Given the description of an element on the screen output the (x, y) to click on. 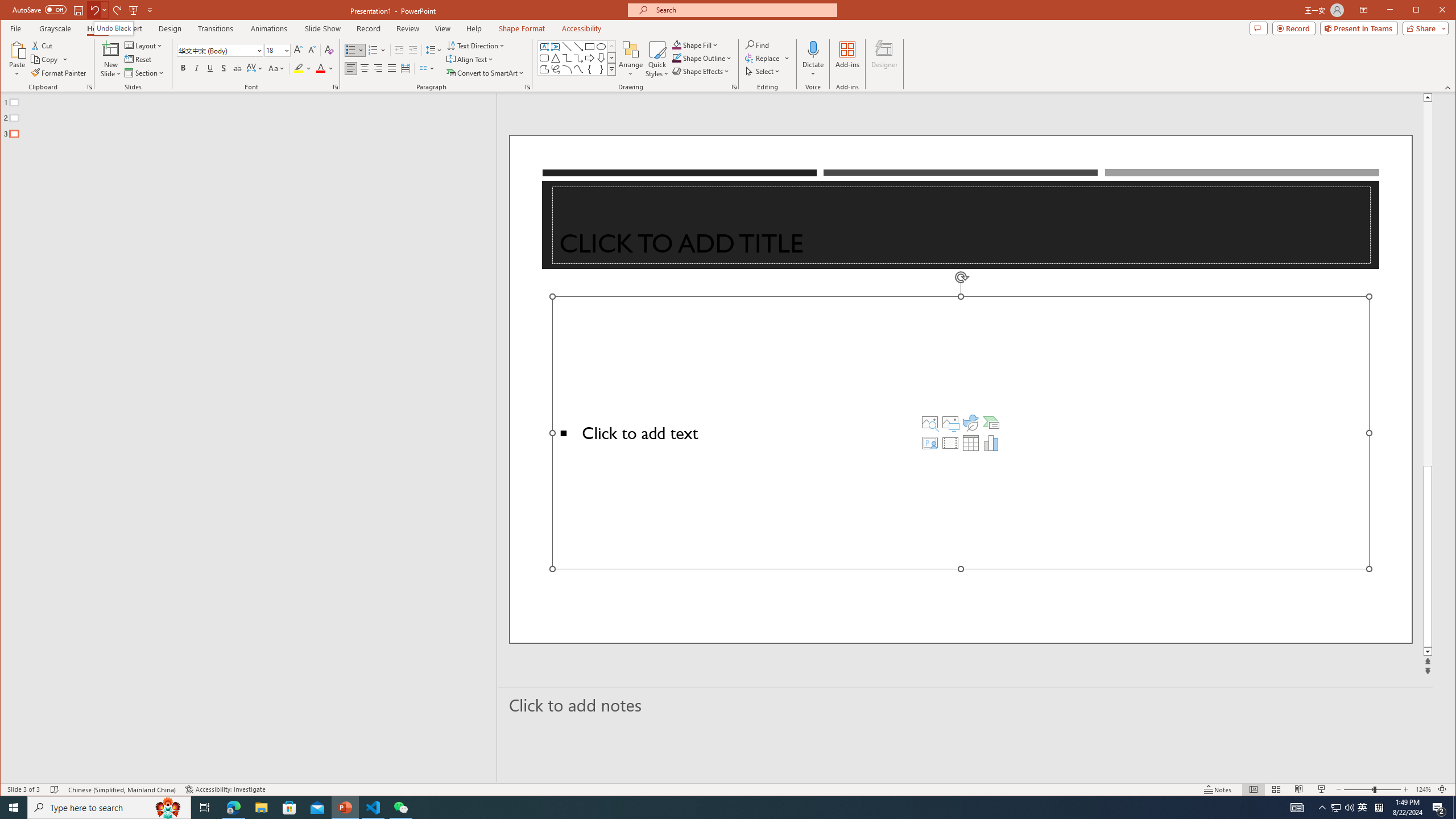
Distributed (405, 68)
Underline (209, 68)
Shape Format (521, 28)
Text Highlight Color Yellow (298, 68)
Font Color (324, 68)
Line up (1427, 96)
Office Clipboard... (89, 86)
Bullets (350, 49)
Paragraph... (527, 86)
Insert Chart (991, 443)
Rectangle: Rounded Corners (544, 57)
Paste (17, 48)
Microsoft Edge - 1 running window (233, 807)
